Given the description of an element on the screen output the (x, y) to click on. 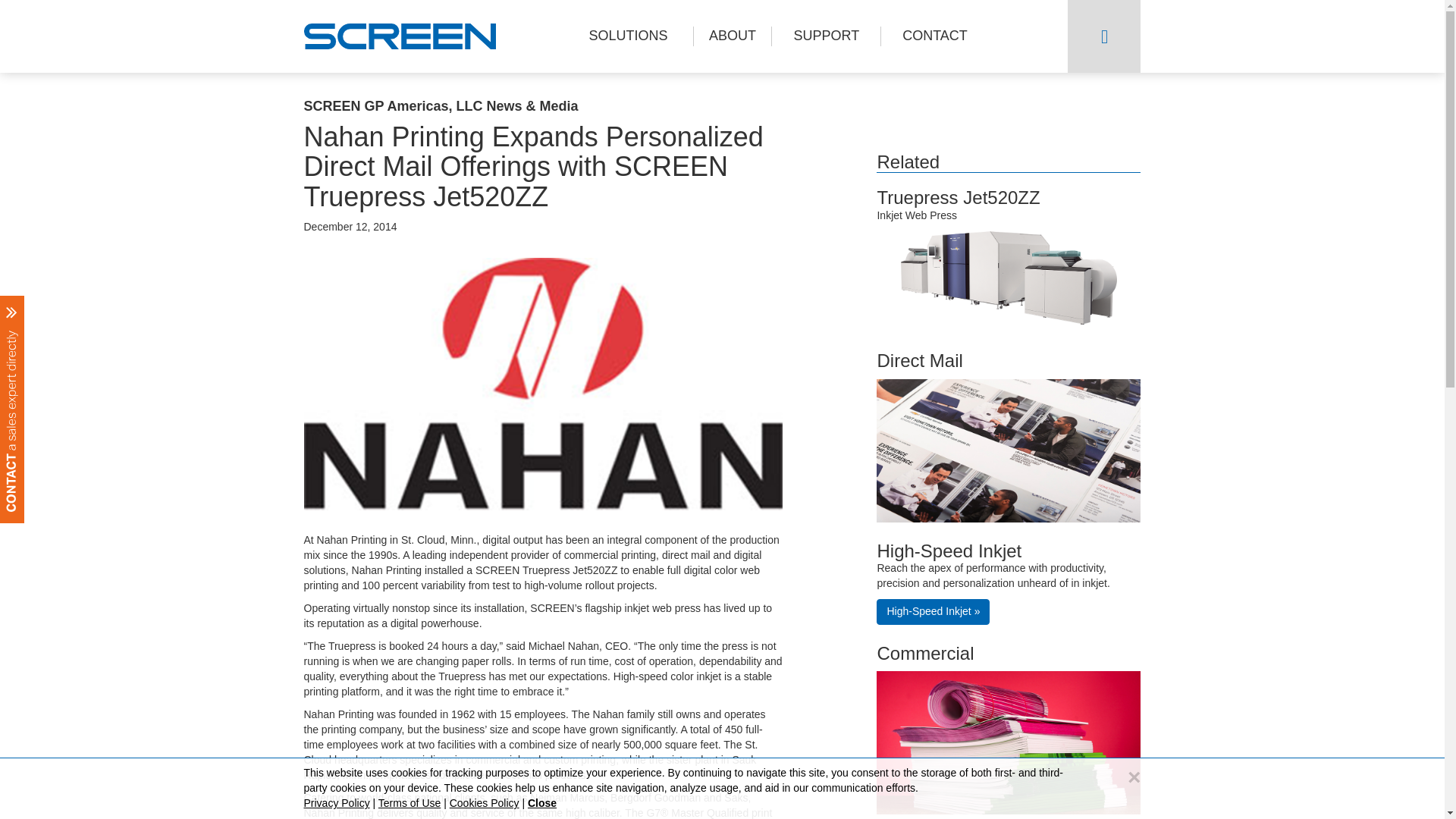
High-Speed Inkjet (949, 550)
SOLUTIONS (628, 36)
SUPPORT (825, 36)
Truepress Jet520ZZ (957, 197)
ABOUT (732, 36)
CONTACT (934, 36)
